Given the description of an element on the screen output the (x, y) to click on. 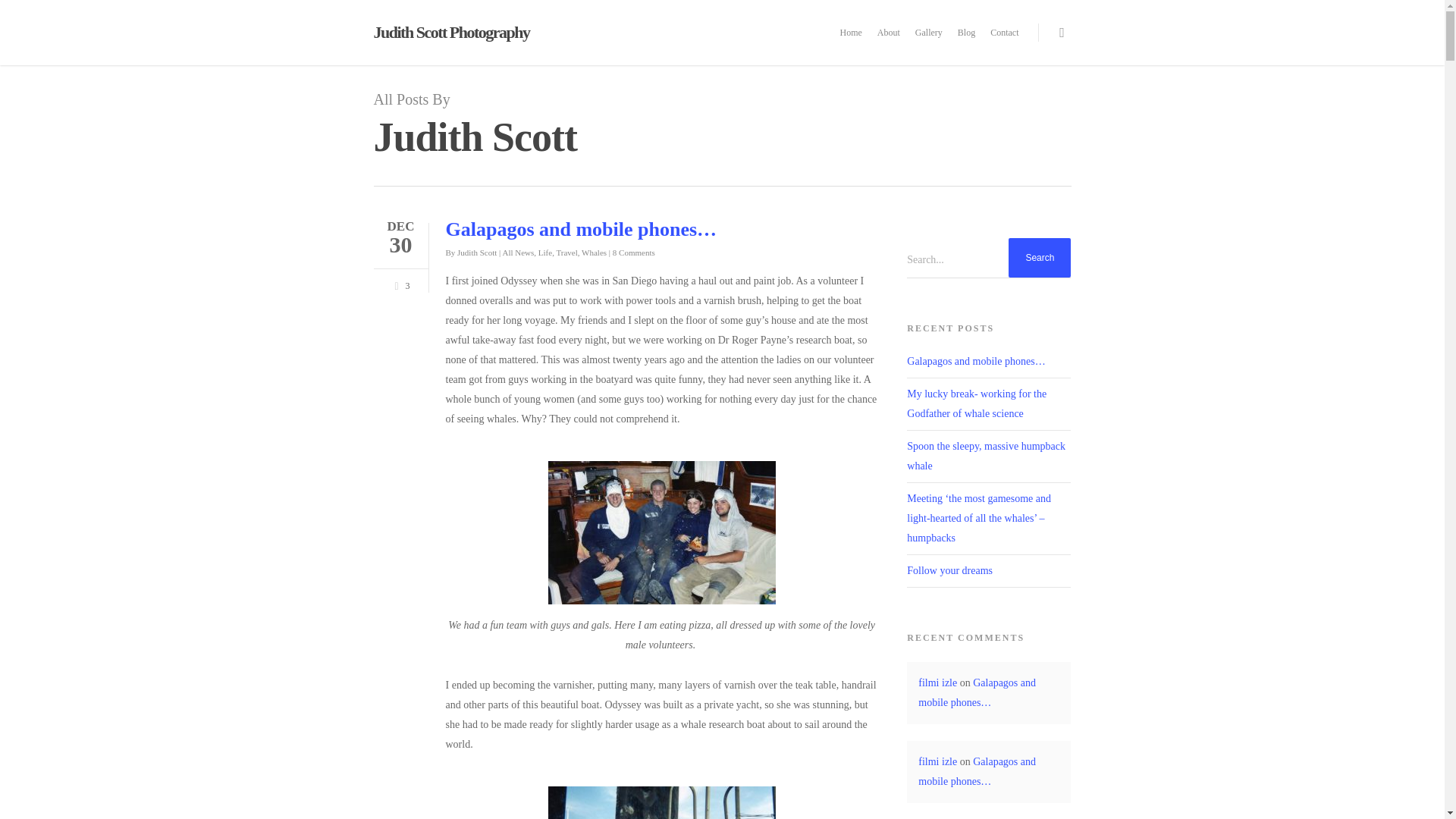
Search for: (988, 259)
Whales (593, 252)
Search (1039, 257)
8 Comments (633, 252)
Life (544, 252)
Judith Scott Photography (450, 32)
Travel (566, 252)
Search (1039, 257)
Judith Scott (476, 252)
All News (518, 252)
